Given the description of an element on the screen output the (x, y) to click on. 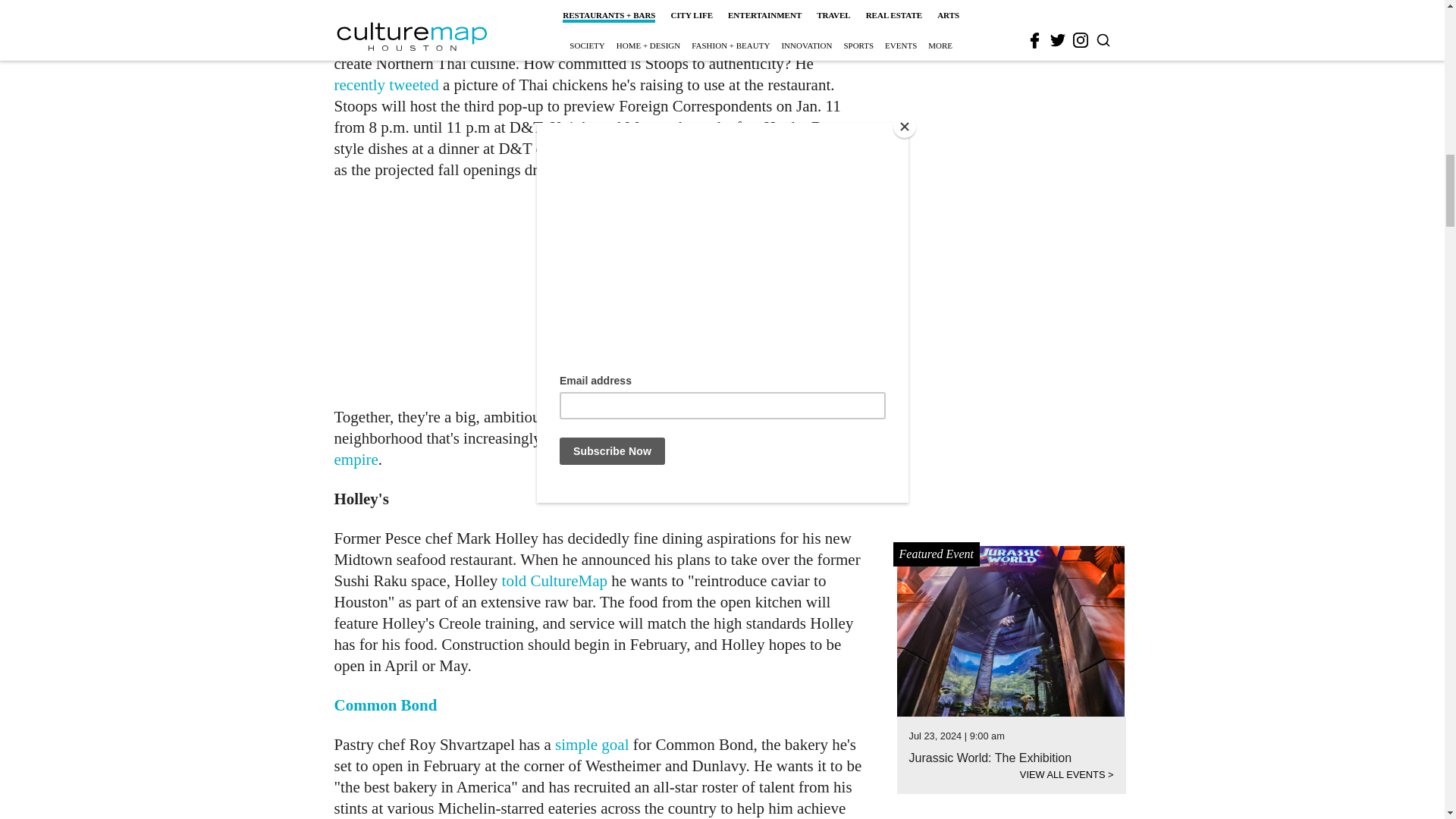
3rd party ad content (600, 293)
